Given the description of an element on the screen output the (x, y) to click on. 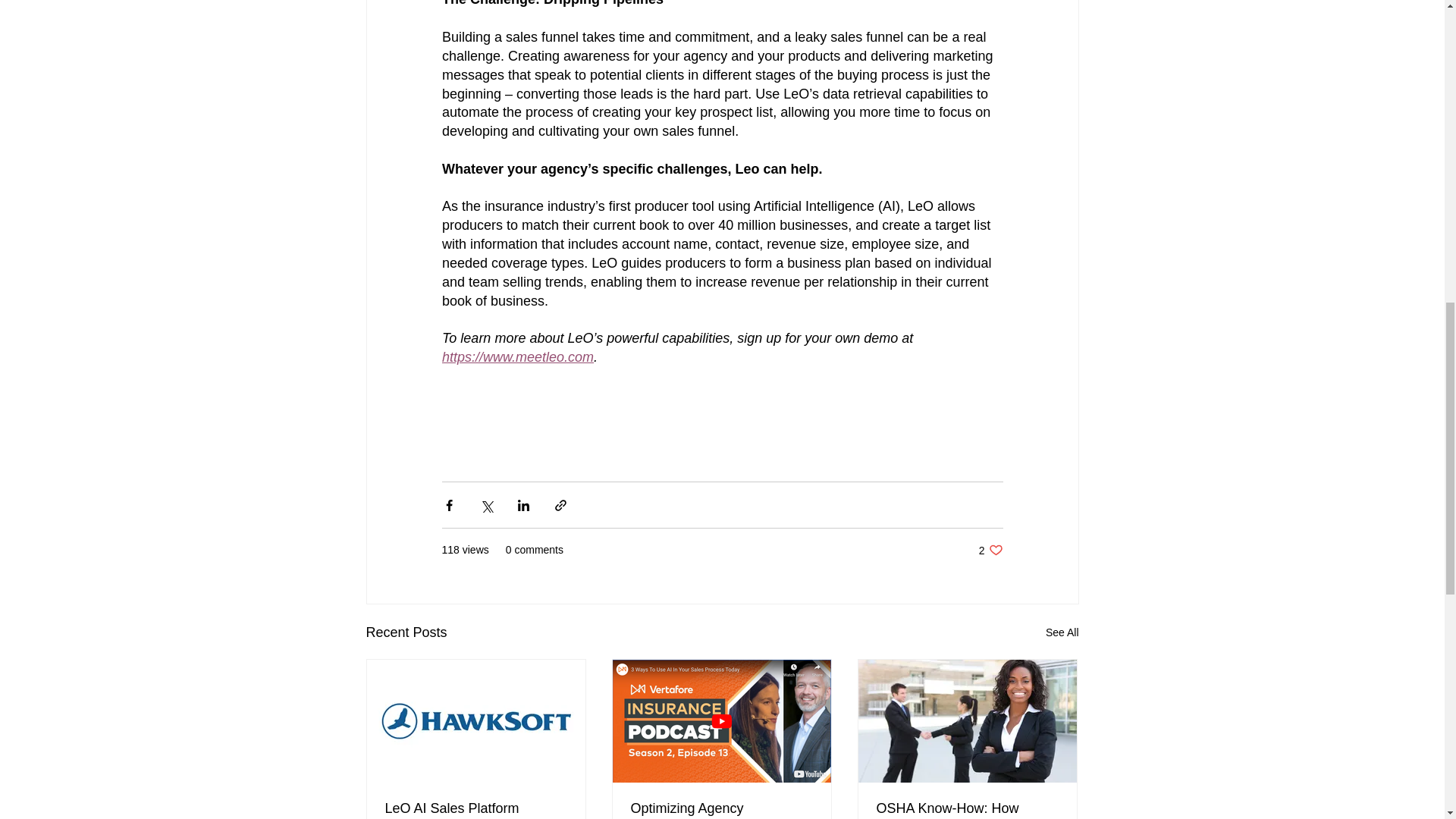
See All (1061, 632)
